Given the description of an element on the screen output the (x, y) to click on. 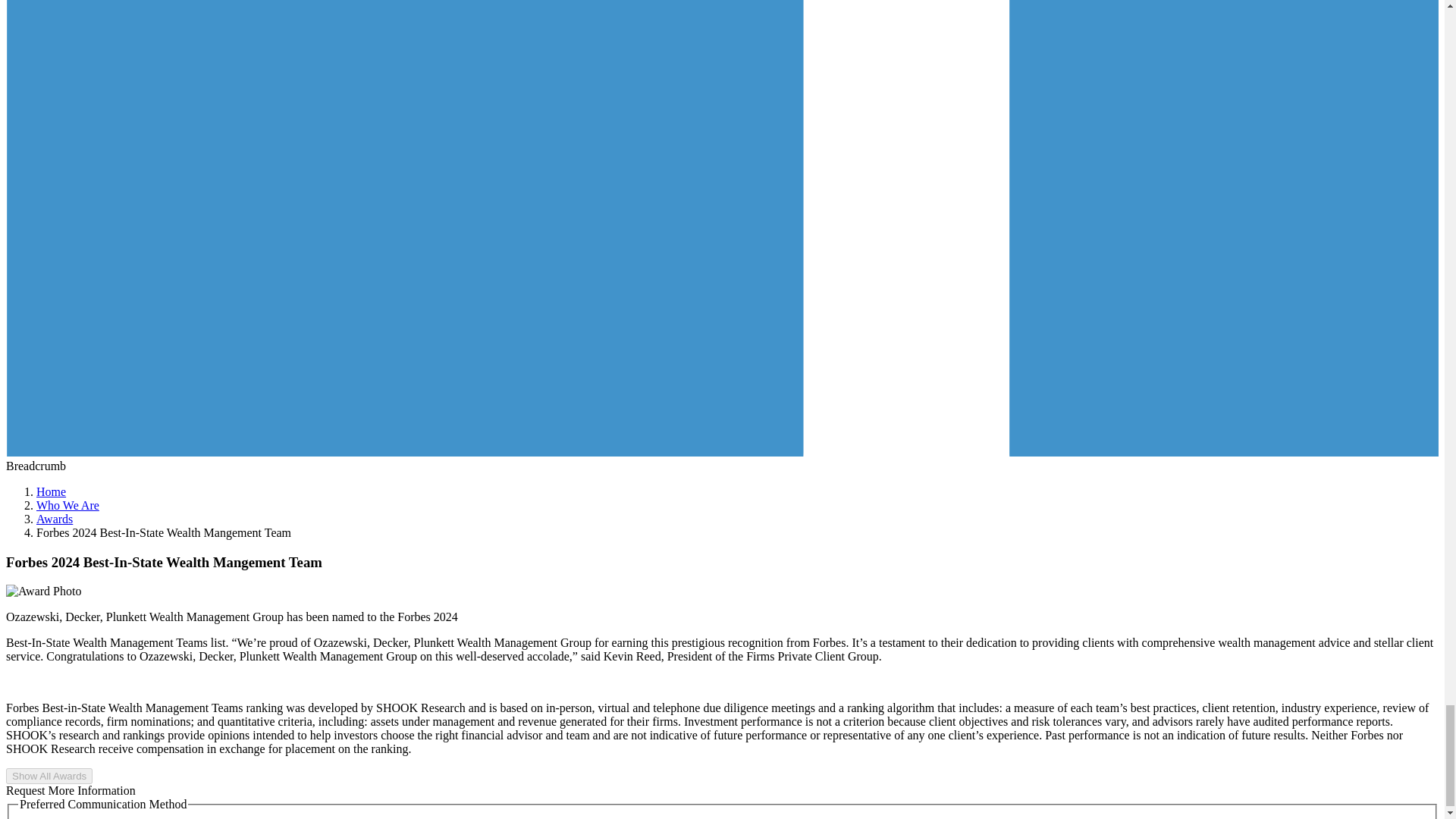
Show All Awards (49, 775)
Who We Are (67, 504)
Show All Awards (49, 775)
award-img (43, 591)
Home (50, 491)
Awards (54, 518)
